Given the description of an element on the screen output the (x, y) to click on. 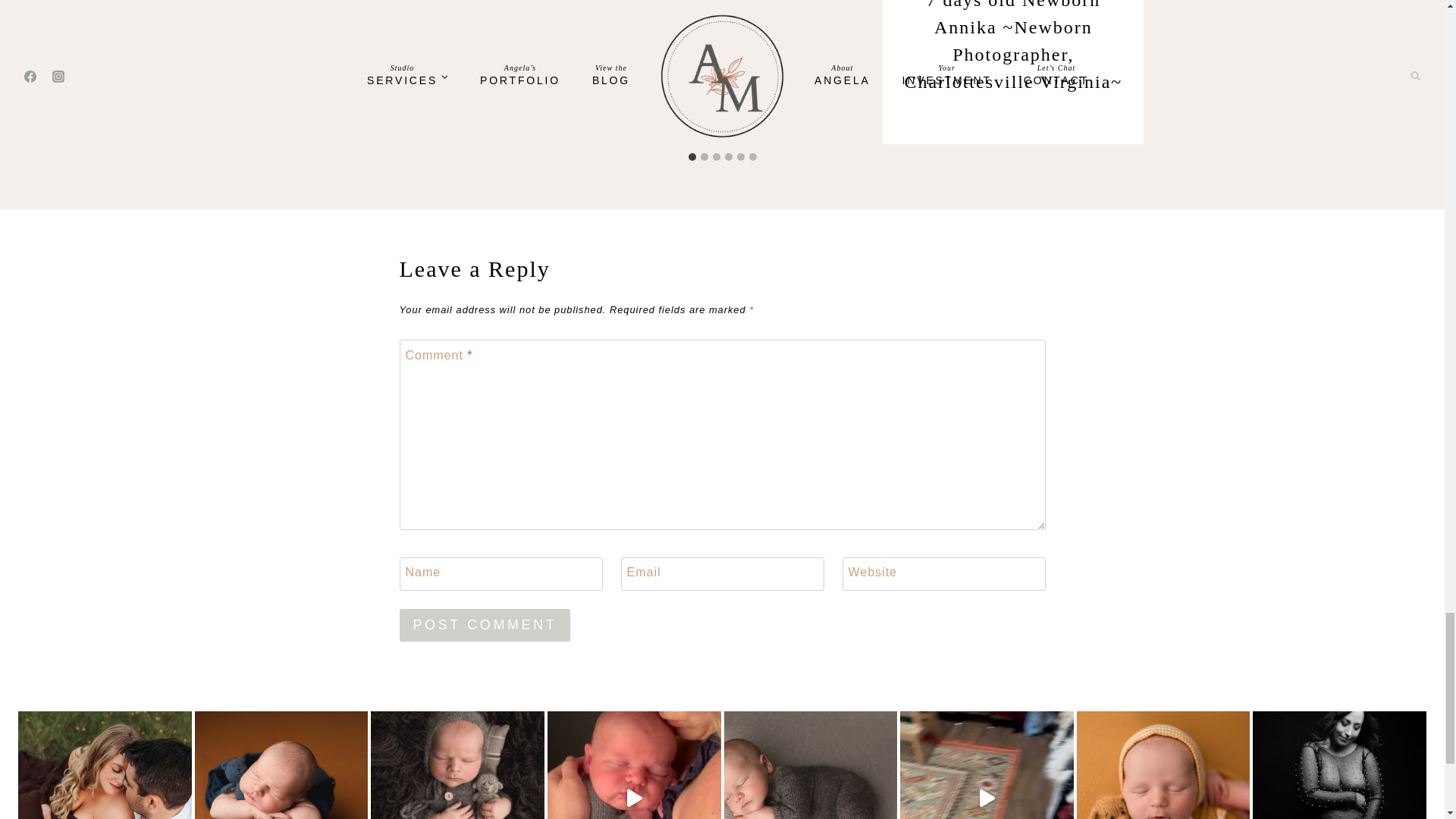
Post Comment (484, 625)
